Given the description of an element on the screen output the (x, y) to click on. 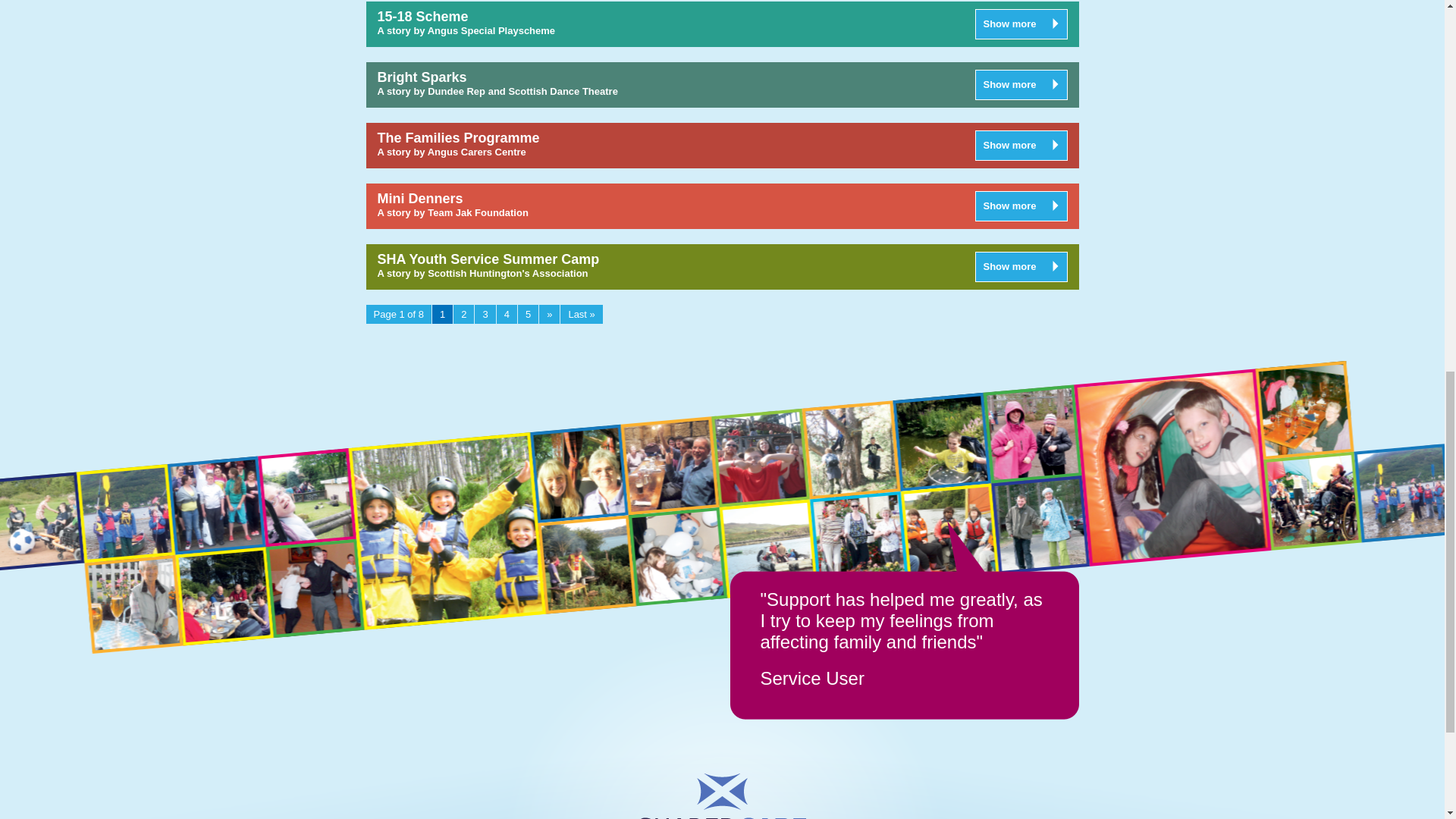
Page 5 (528, 313)
Page 4 (506, 313)
Page 3 (484, 313)
Page 2 (463, 313)
